Given the description of an element on the screen output the (x, y) to click on. 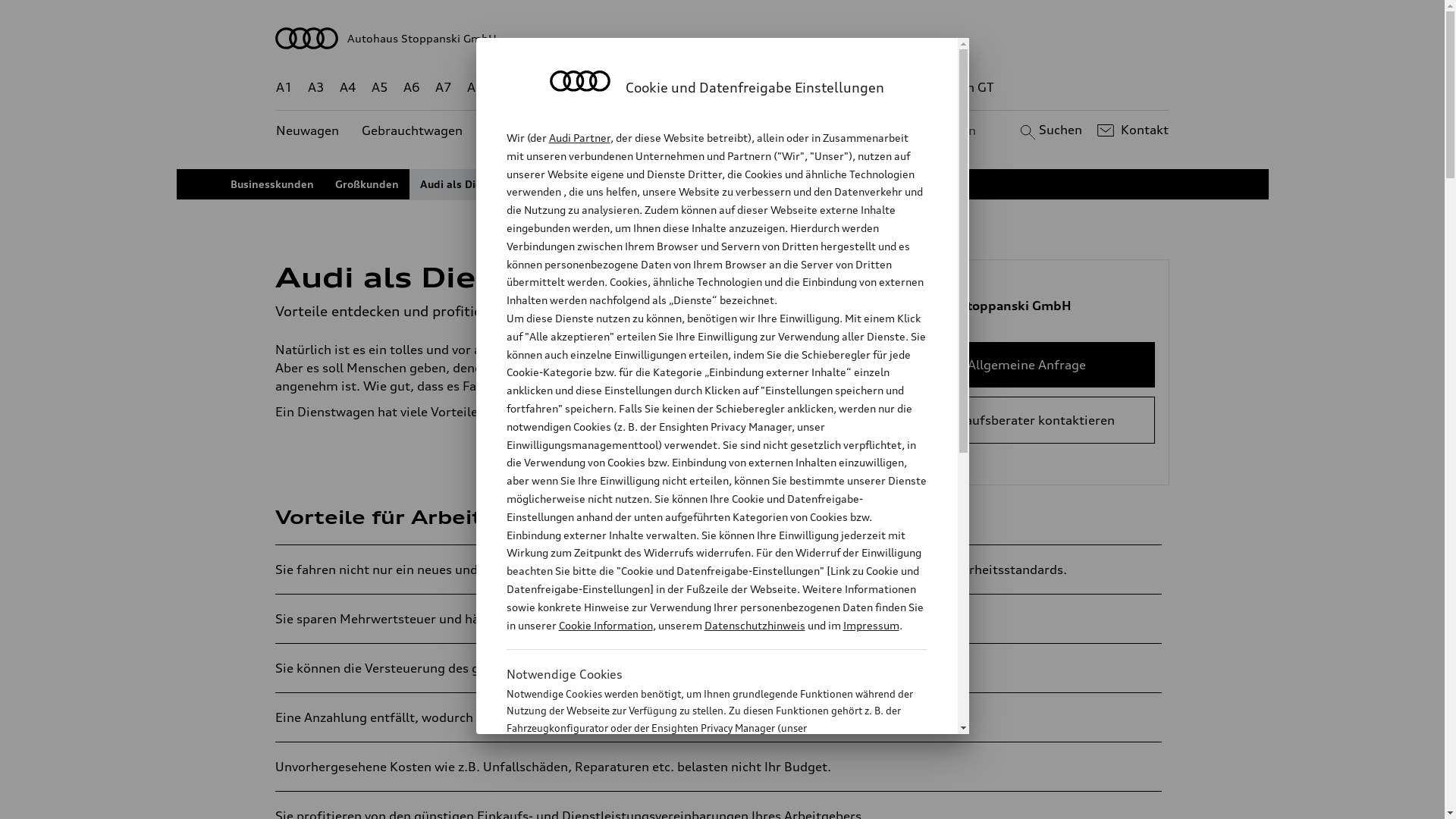
Q2 Element type: text (507, 87)
TT Element type: text (814, 87)
Audi als Dienstwagen Element type: text (475, 184)
Cookie Information Element type: text (605, 624)
Autohaus Stoppanski GmbH Element type: text (722, 38)
A5 Element type: text (379, 87)
A1 Element type: text (284, 87)
Q4 e-tron Element type: text (592, 87)
Gebrauchtwagen Element type: text (411, 130)
Angebote Element type: text (636, 130)
Businesskunden Element type: text (271, 184)
Datenschutzhinweis Element type: text (753, 624)
Ihre Ansprechpartner Element type: text (719, 184)
Allgemeine Anfrage Element type: text (1025, 364)
Q5 Element type: text (645, 87)
Audi Partner Element type: text (579, 137)
Suchen Element type: text (1049, 130)
Kontakt Element type: text (1130, 130)
Cookie Information Element type: text (700, 802)
A6 Element type: text (411, 87)
Q7 Element type: text (678, 87)
Verkaufsberater kontaktieren Element type: text (1025, 419)
e-tron GT Element type: text (965, 87)
A8 Element type: text (475, 87)
Q8 Element type: text (710, 87)
A4 Element type: text (347, 87)
Q3 Element type: text (540, 87)
g-tron Element type: text (903, 87)
Impressum Element type: text (871, 624)
A7 Element type: text (443, 87)
Kundenservice Element type: text (730, 130)
RS Element type: text (861, 87)
Q8 e-tron Element type: text (763, 87)
A3 Element type: text (315, 87)
Neuwagen Element type: text (307, 130)
Sonderabnehmer Element type: text (597, 184)
